Given the description of an element on the screen output the (x, y) to click on. 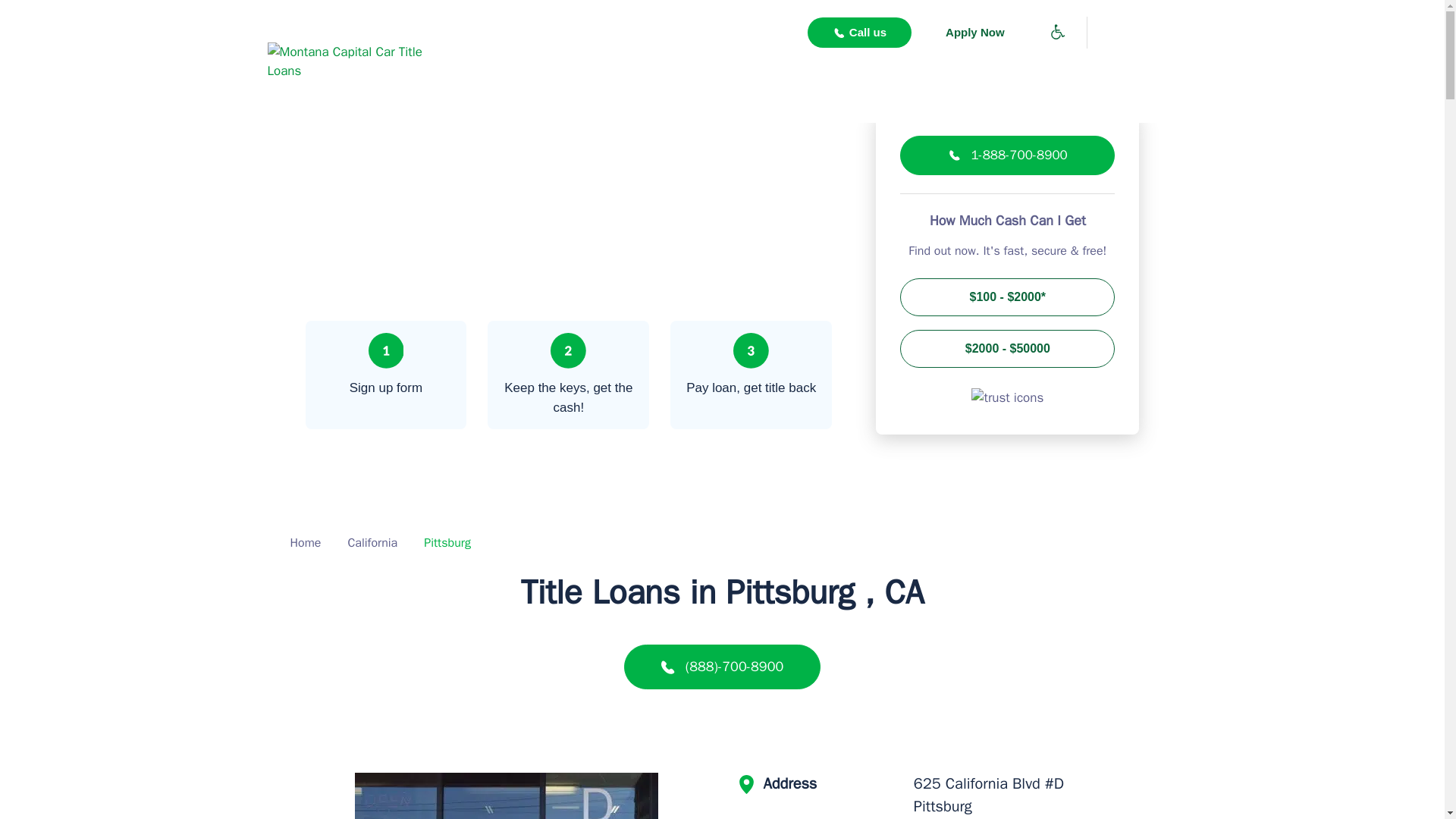
Icons (1007, 397)
Locations (687, 84)
Secured Title Loans (542, 84)
